Given the description of an element on the screen output the (x, y) to click on. 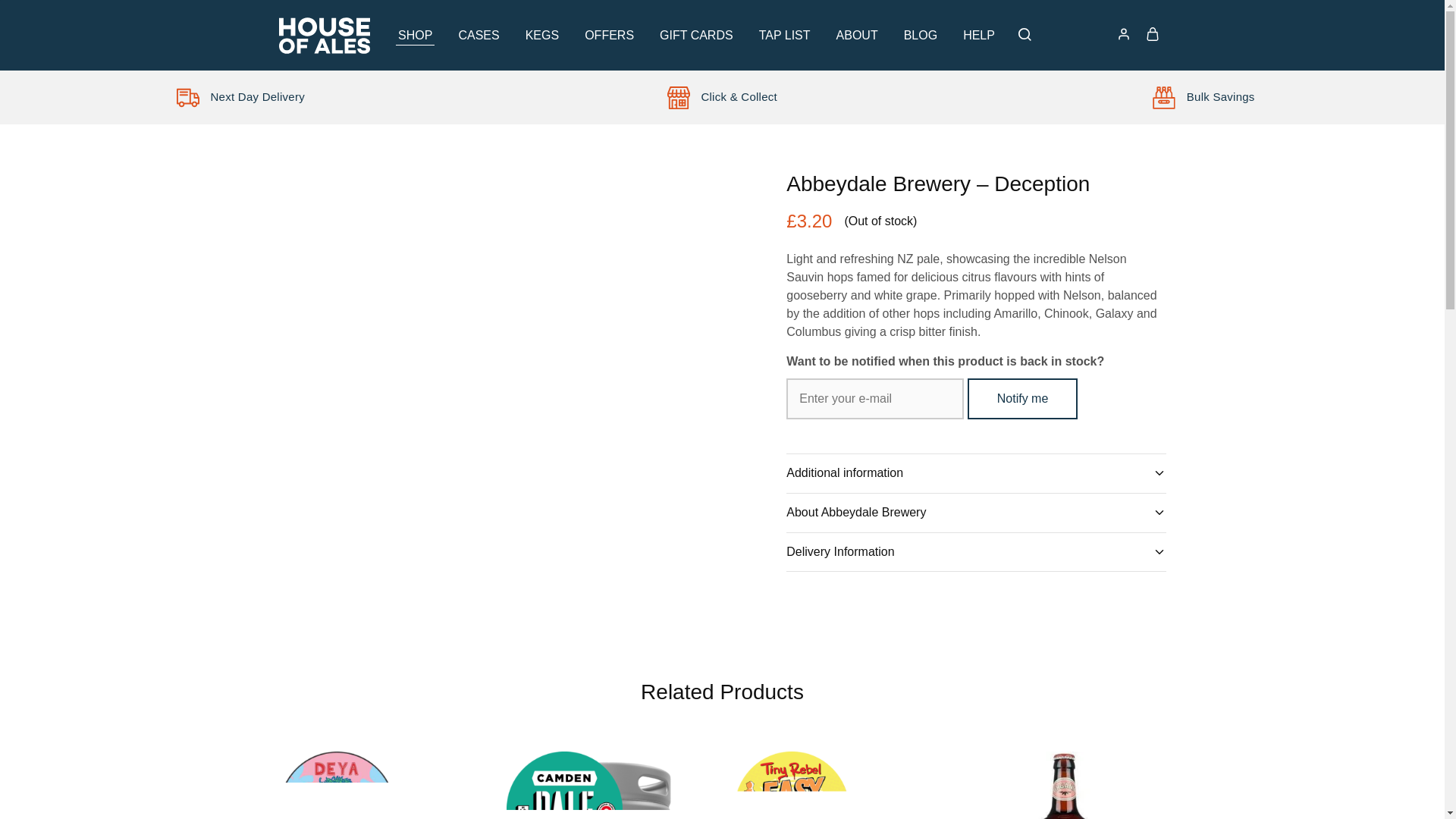
BLOG (920, 35)
ABOUT (857, 35)
KEGS (541, 35)
TAP LIST (784, 35)
GIFT CARDS (696, 35)
CASES (477, 35)
SHOP (414, 35)
OFFERS (609, 35)
HELP (978, 35)
